Given the description of an element on the screen output the (x, y) to click on. 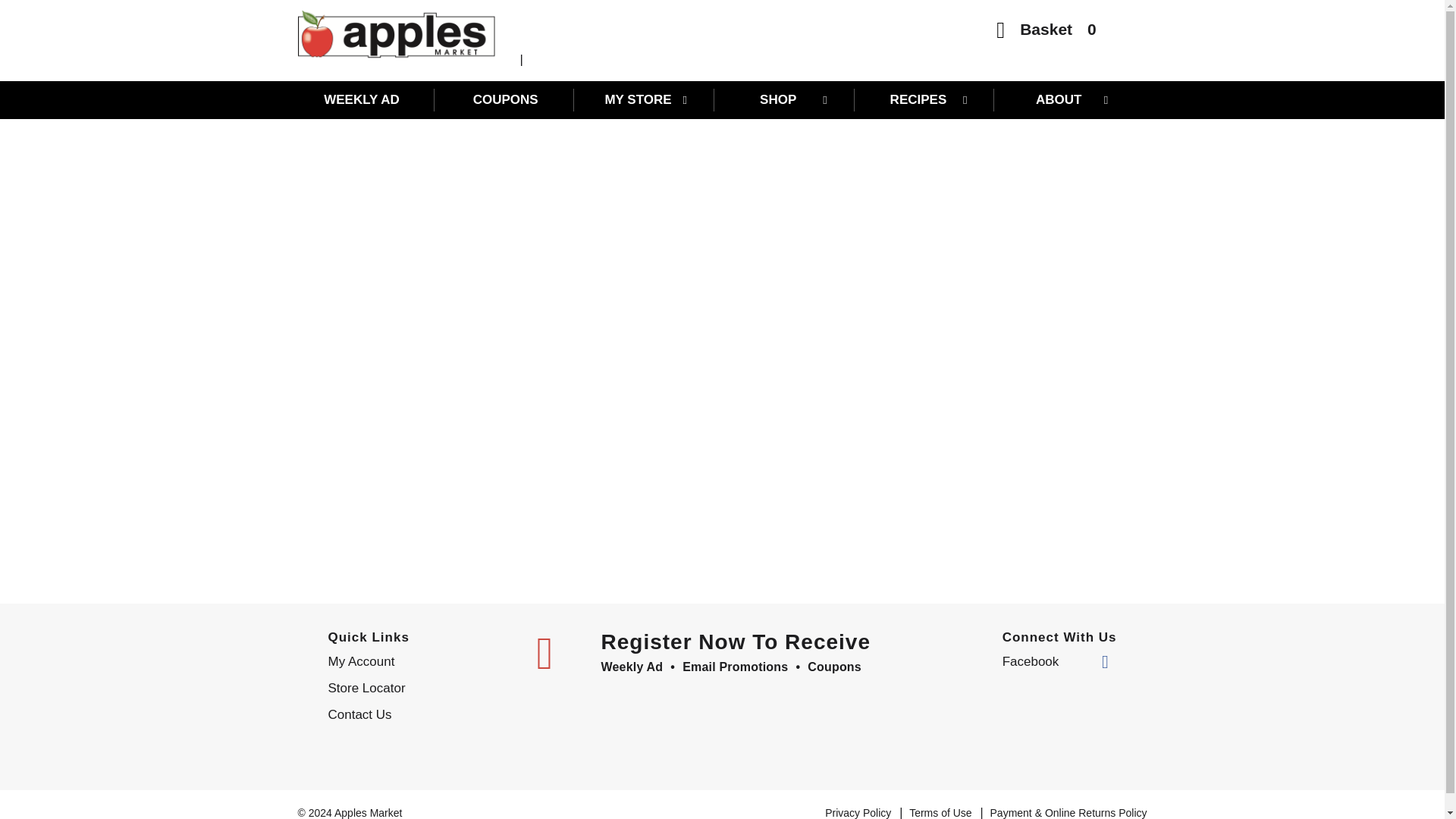
Store Locator (420, 688)
RECIPES (925, 99)
SHOP (785, 99)
COUPONS (505, 99)
Contact Us (420, 714)
MY STORE (646, 99)
Basket0 (1045, 33)
ABOUT (1065, 99)
My Account (420, 661)
WEEKLY AD (365, 99)
Facebook (1055, 661)
facebook (1055, 661)
